Given the description of an element on the screen output the (x, y) to click on. 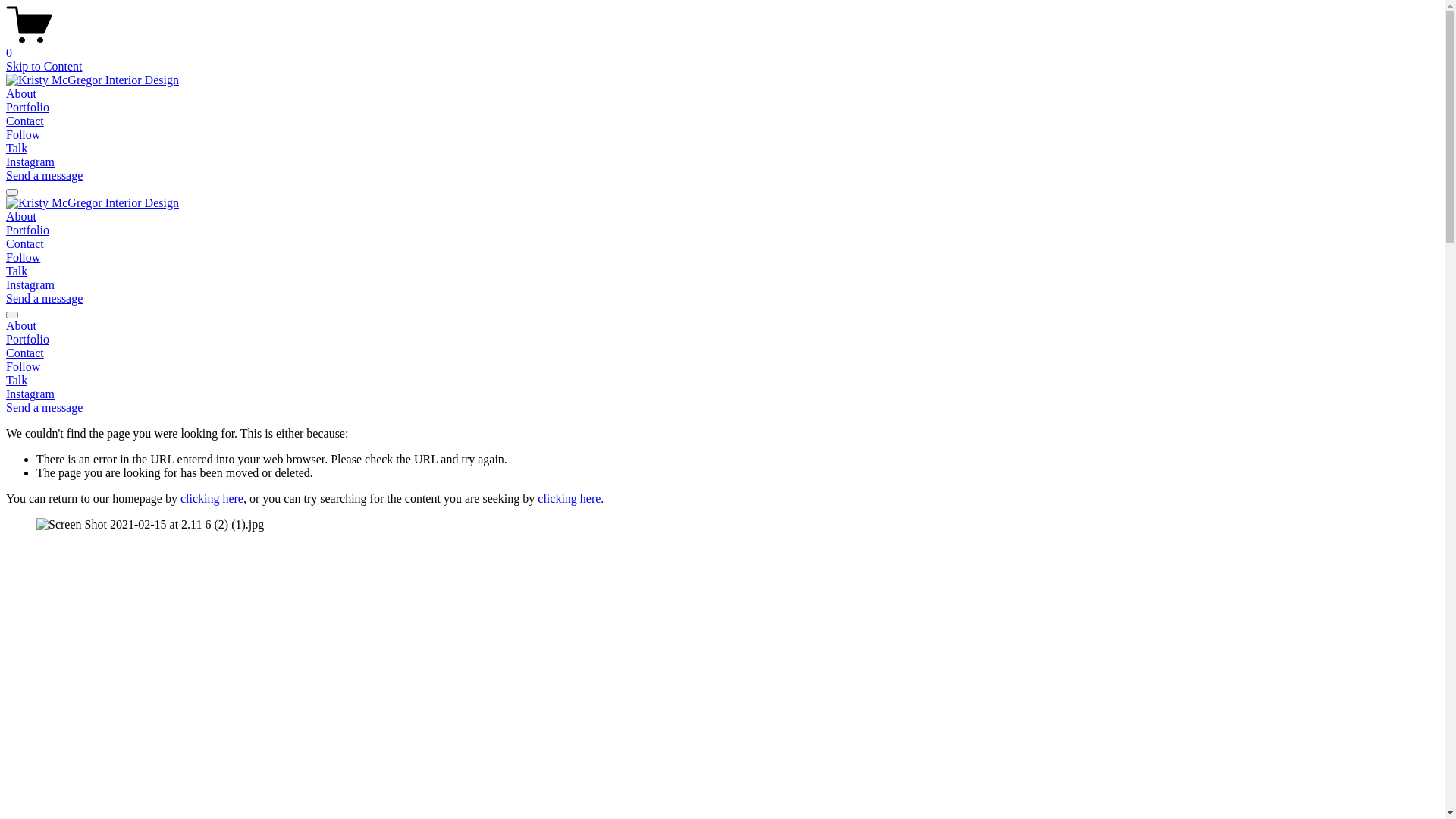
Send a message Element type: text (44, 297)
Skip to Content Element type: text (43, 65)
Talk Element type: text (16, 379)
About Element type: text (21, 216)
Instagram Element type: text (30, 161)
Contact Element type: text (24, 120)
clicking here Element type: text (211, 498)
Portfolio Element type: text (27, 106)
About Element type: text (21, 93)
Instagram Element type: text (30, 393)
Portfolio Element type: text (27, 229)
Contact Element type: text (24, 243)
Instagram Element type: text (30, 284)
Send a message Element type: text (44, 175)
Follow Element type: text (23, 366)
Talk Element type: text (16, 270)
Portfolio Element type: text (722, 339)
Contact Element type: text (722, 353)
0 Element type: text (722, 45)
Talk Element type: text (16, 147)
Send a message Element type: text (44, 407)
About Element type: text (722, 325)
Follow Element type: text (23, 257)
clicking here Element type: text (568, 498)
Follow Element type: text (23, 134)
